Given the description of an element on the screen output the (x, y) to click on. 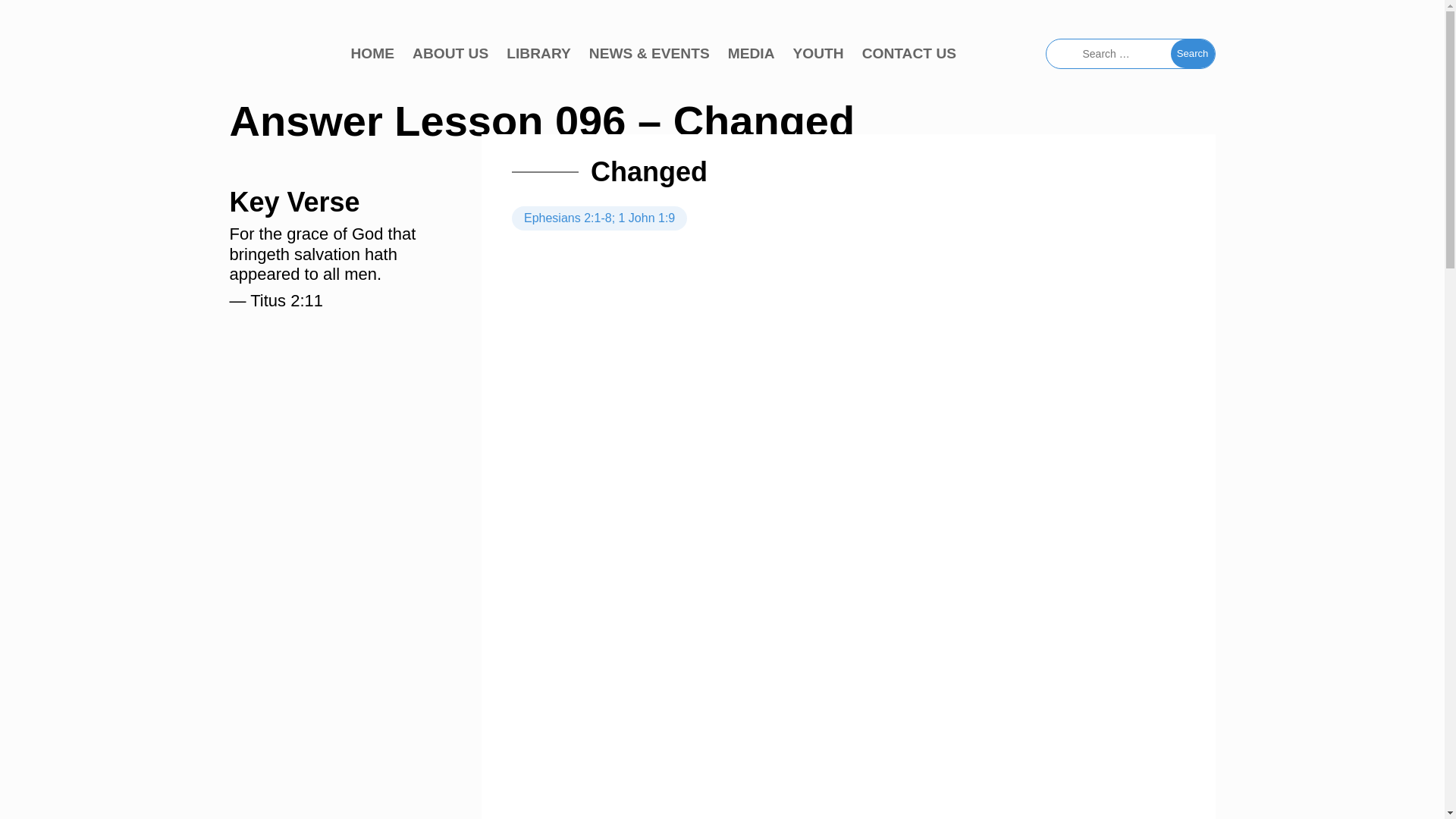
Search (1192, 53)
HOME (372, 53)
CONTACT US (908, 53)
Search (1192, 53)
YOUTH (818, 53)
MEDIA (751, 53)
Search (1192, 53)
ABOUT US (449, 53)
LIBRARY (538, 53)
